Given the description of an element on the screen output the (x, y) to click on. 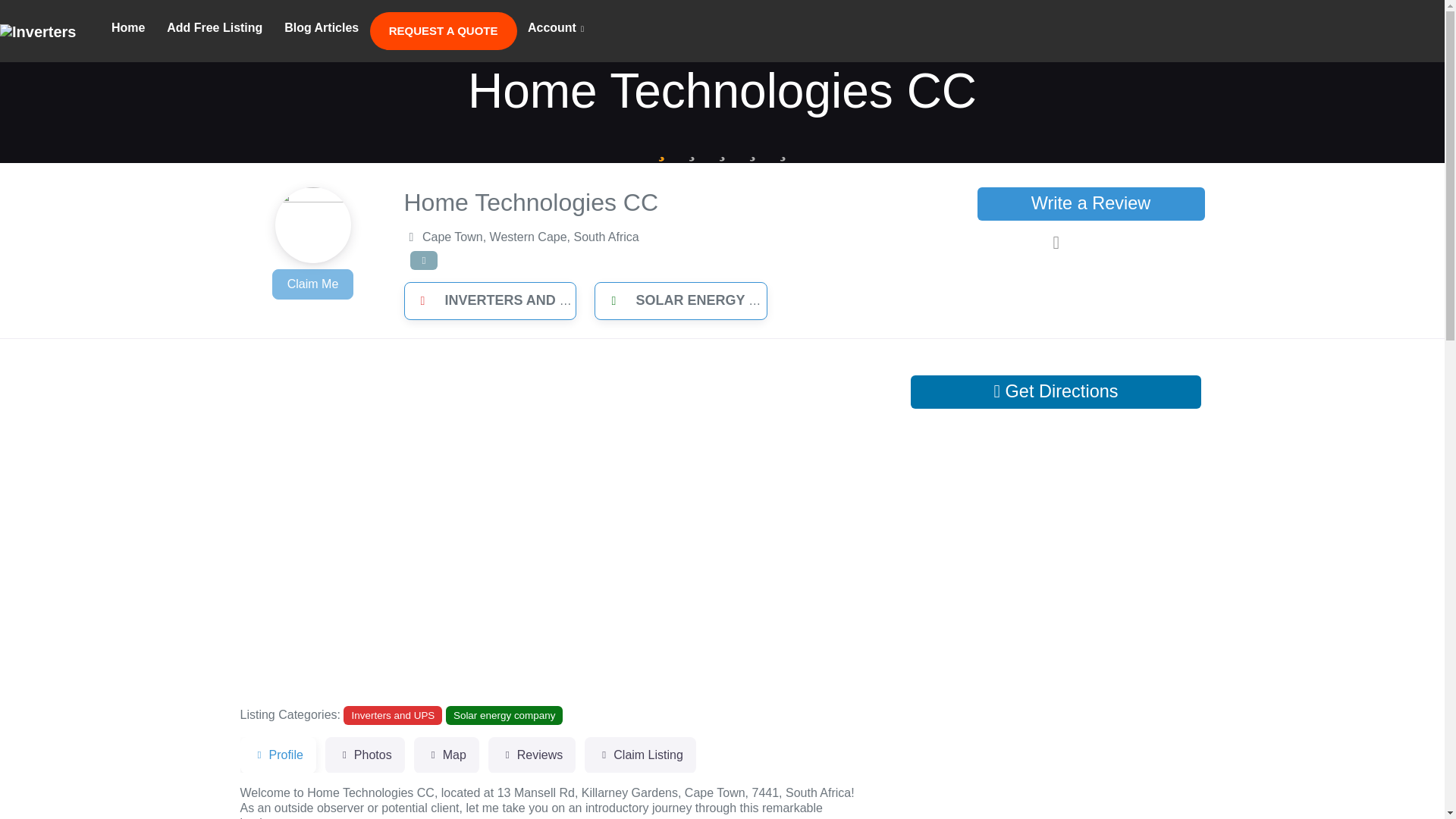
Account (555, 28)
Inverters and UPS (392, 714)
Solar energy company (504, 714)
Profile (277, 755)
Map (446, 755)
Add to Favorites (1090, 243)
Map (446, 755)
Write a Review (1090, 203)
Blog Articles (321, 28)
Get Directions (1055, 391)
Reviews (531, 755)
Add Free Listing (214, 28)
Photos (364, 755)
Claim Listing (640, 755)
Photos (364, 755)
